Given the description of an element on the screen output the (x, y) to click on. 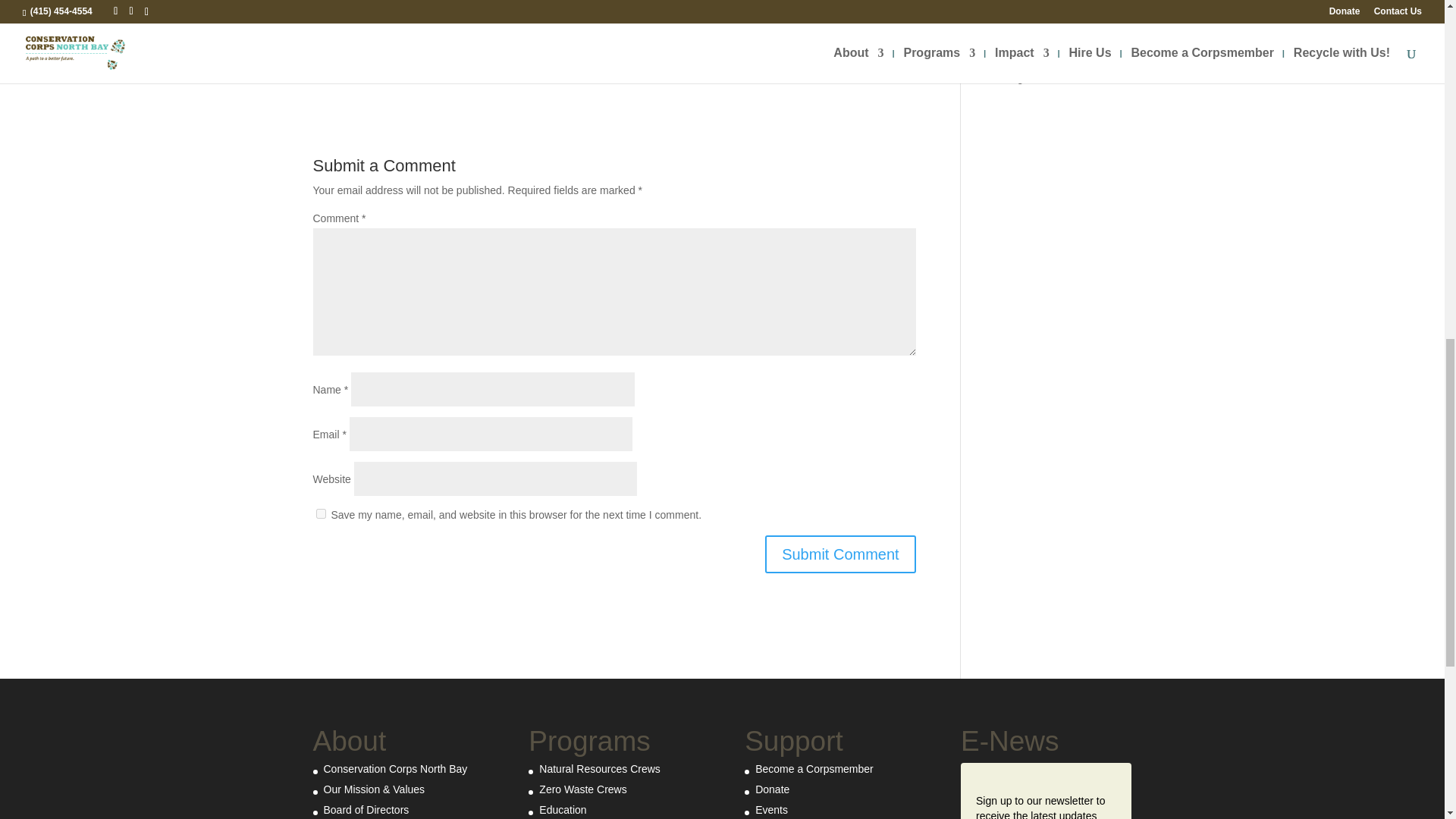
yes (319, 513)
Submit Comment (840, 554)
Submit Comment (840, 554)
